Given the description of an element on the screen output the (x, y) to click on. 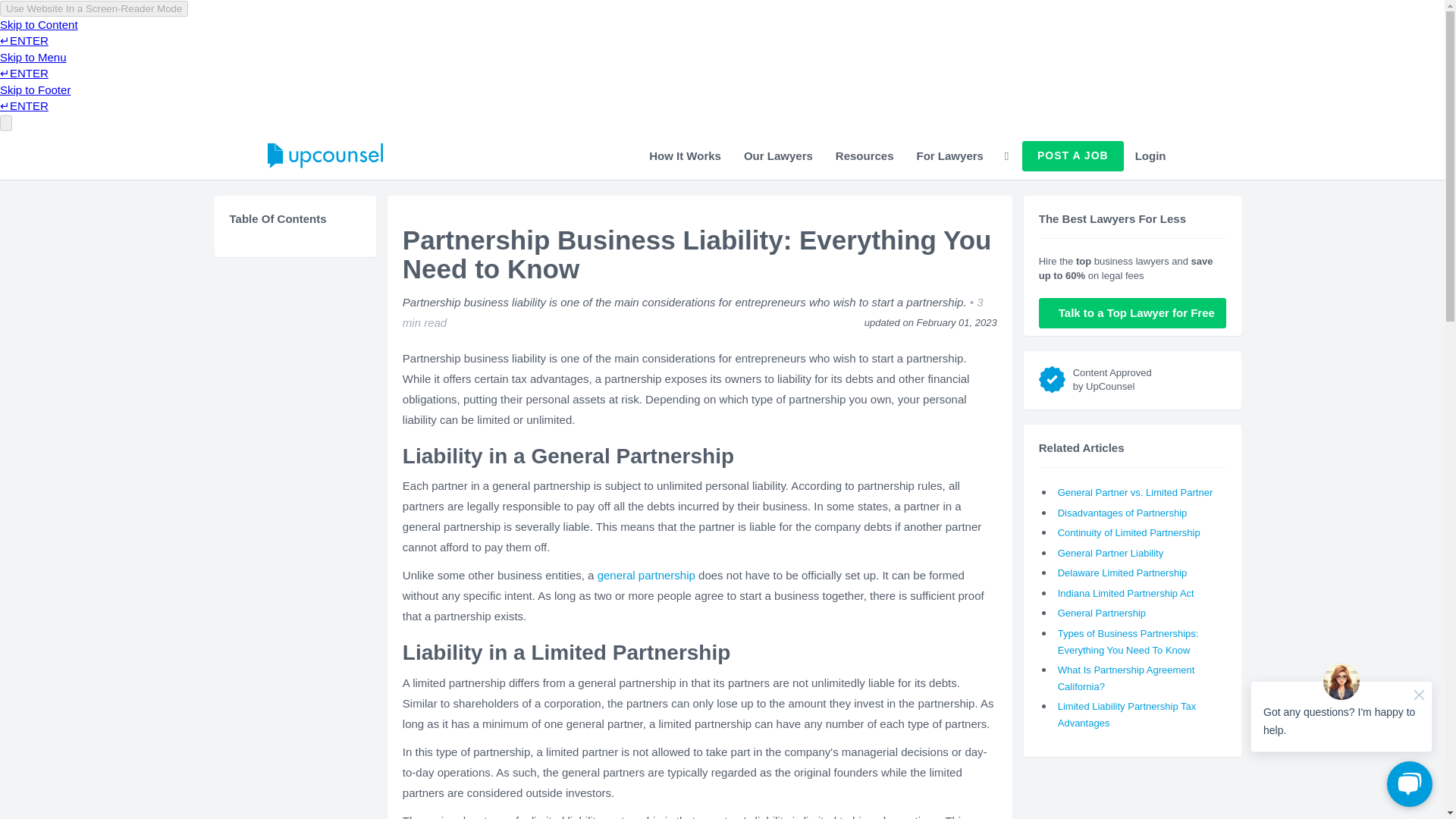
How It Works (684, 155)
Indiana Limited Partnership Act (1125, 593)
Login (1150, 155)
General Partner vs. Limited Partner (1135, 491)
Our Lawyers (778, 155)
Delaware Limited Partnership (1123, 572)
Disadvantages of Partnership (1123, 512)
Resources (864, 155)
general partnership (645, 574)
General Partner Liability (1110, 552)
Continuity of Limited Partnership (1128, 532)
For Lawyers (949, 155)
